Given the description of an element on the screen output the (x, y) to click on. 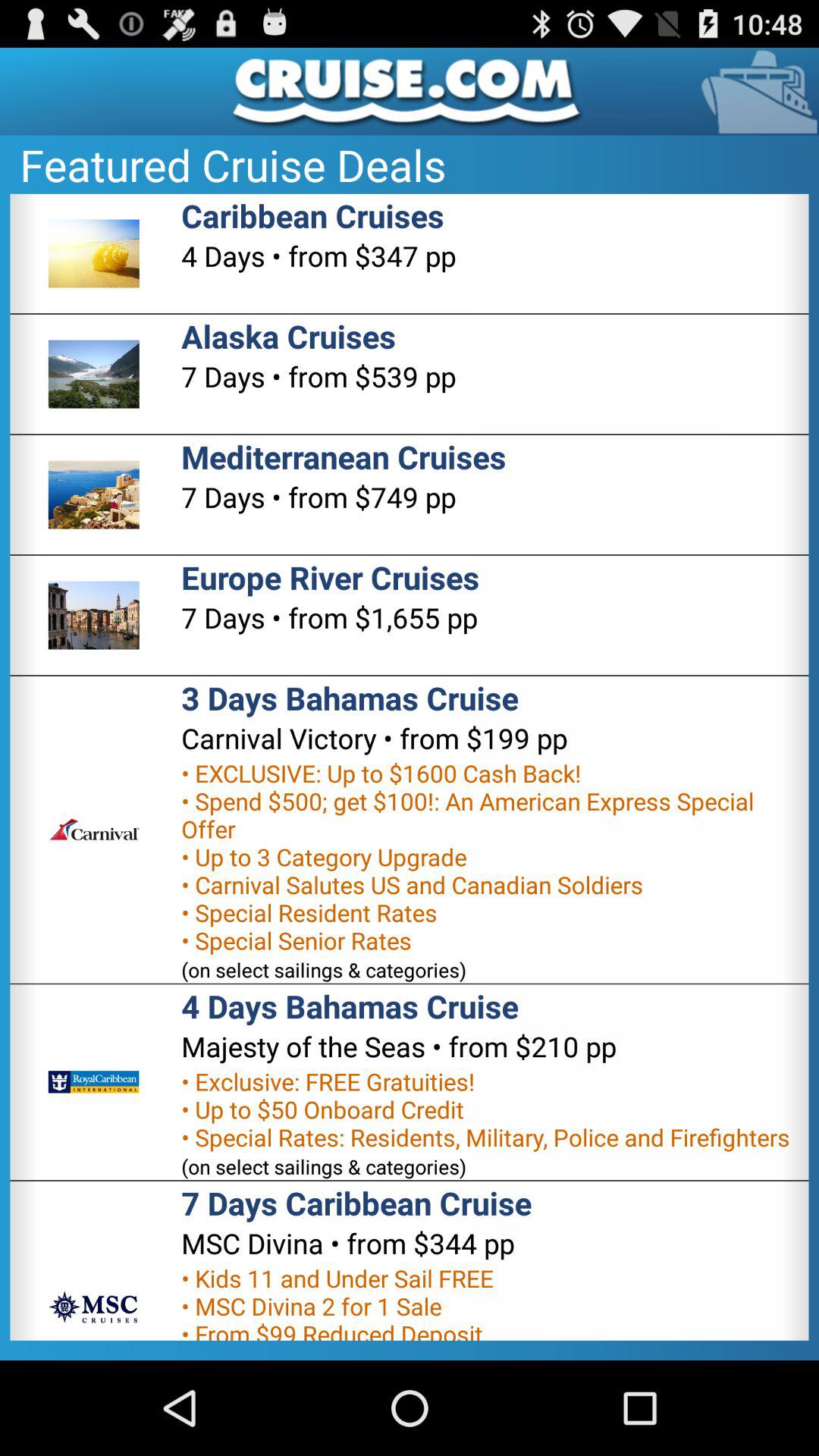
launch icon above the exclusive free gratuities icon (398, 1046)
